Given the description of an element on the screen output the (x, y) to click on. 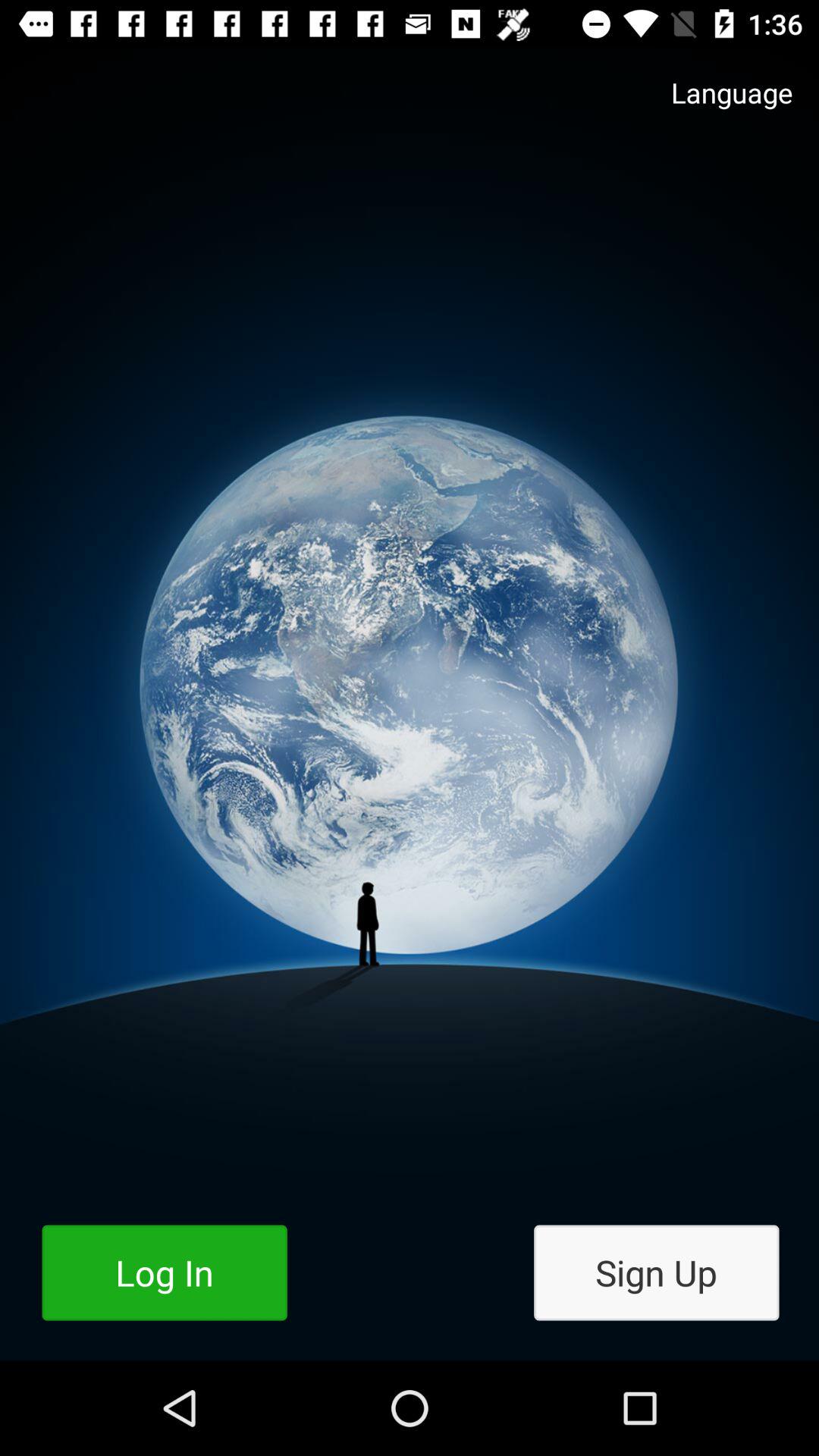
select icon to the left of sign up (164, 1272)
